Given the description of an element on the screen output the (x, y) to click on. 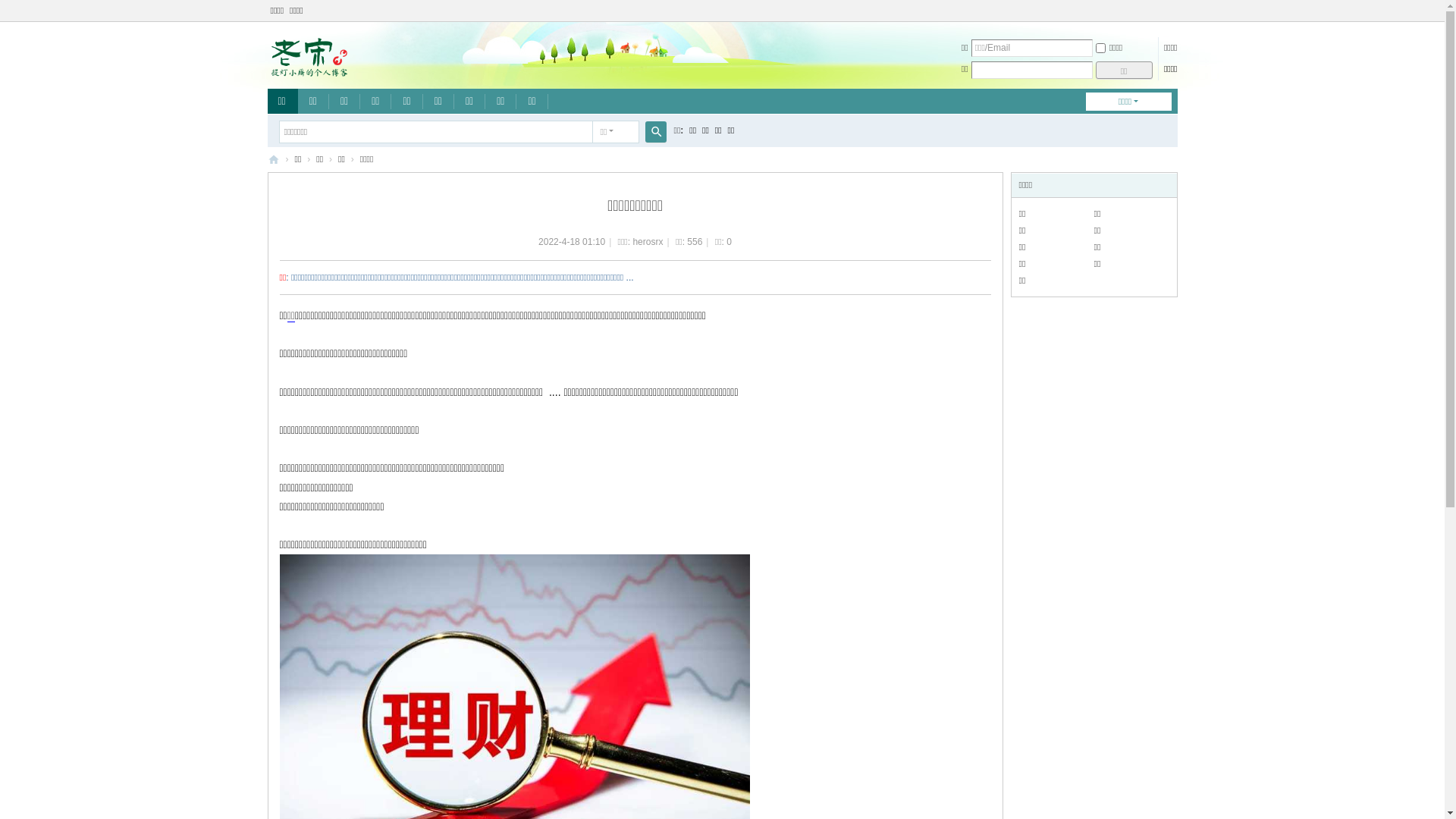
herosrx Element type: text (647, 241)
true Element type: text (654, 131)
